Given the description of an element on the screen output the (x, y) to click on. 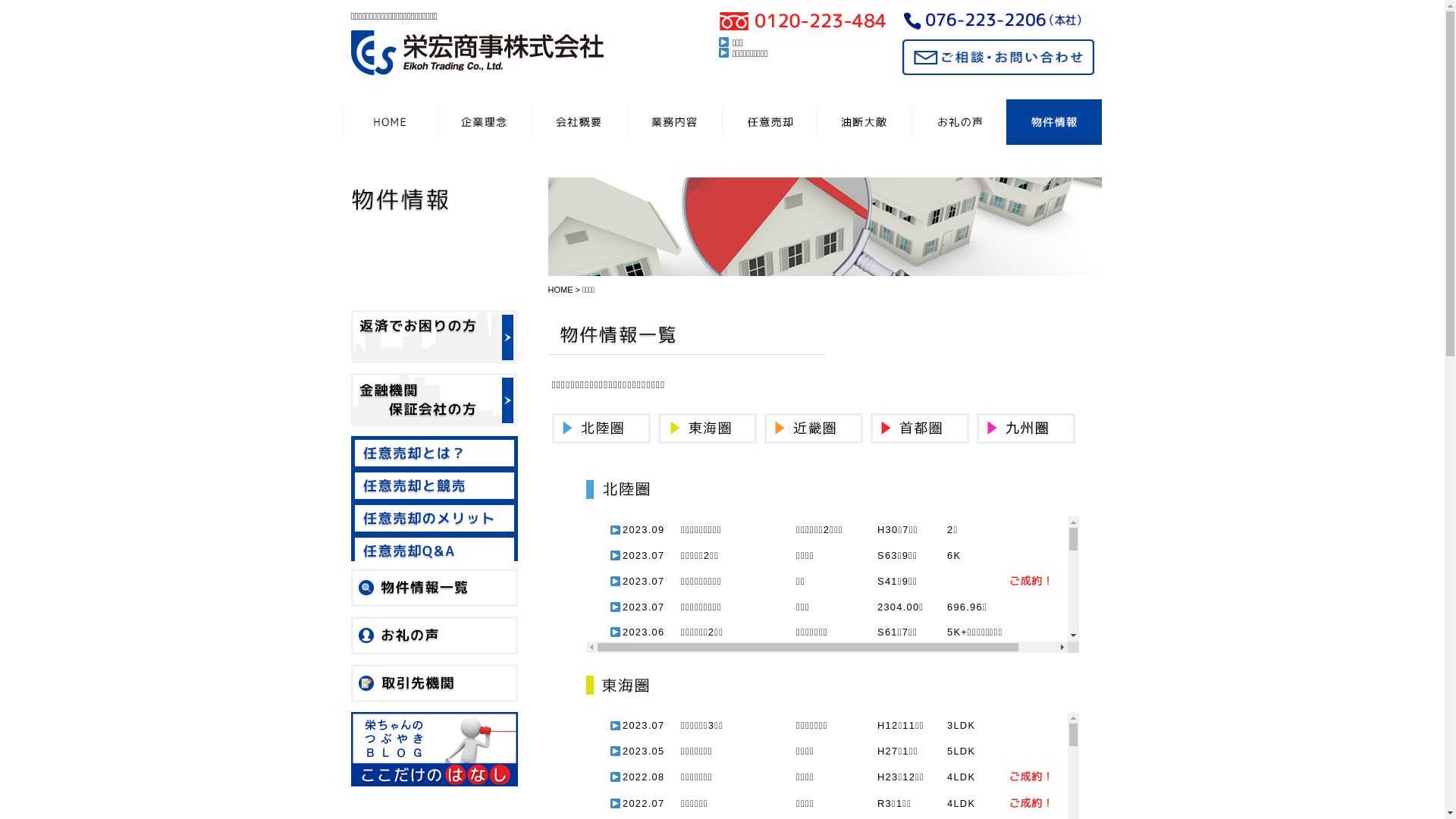
HOME Element type: text (560, 289)
